Given the description of an element on the screen output the (x, y) to click on. 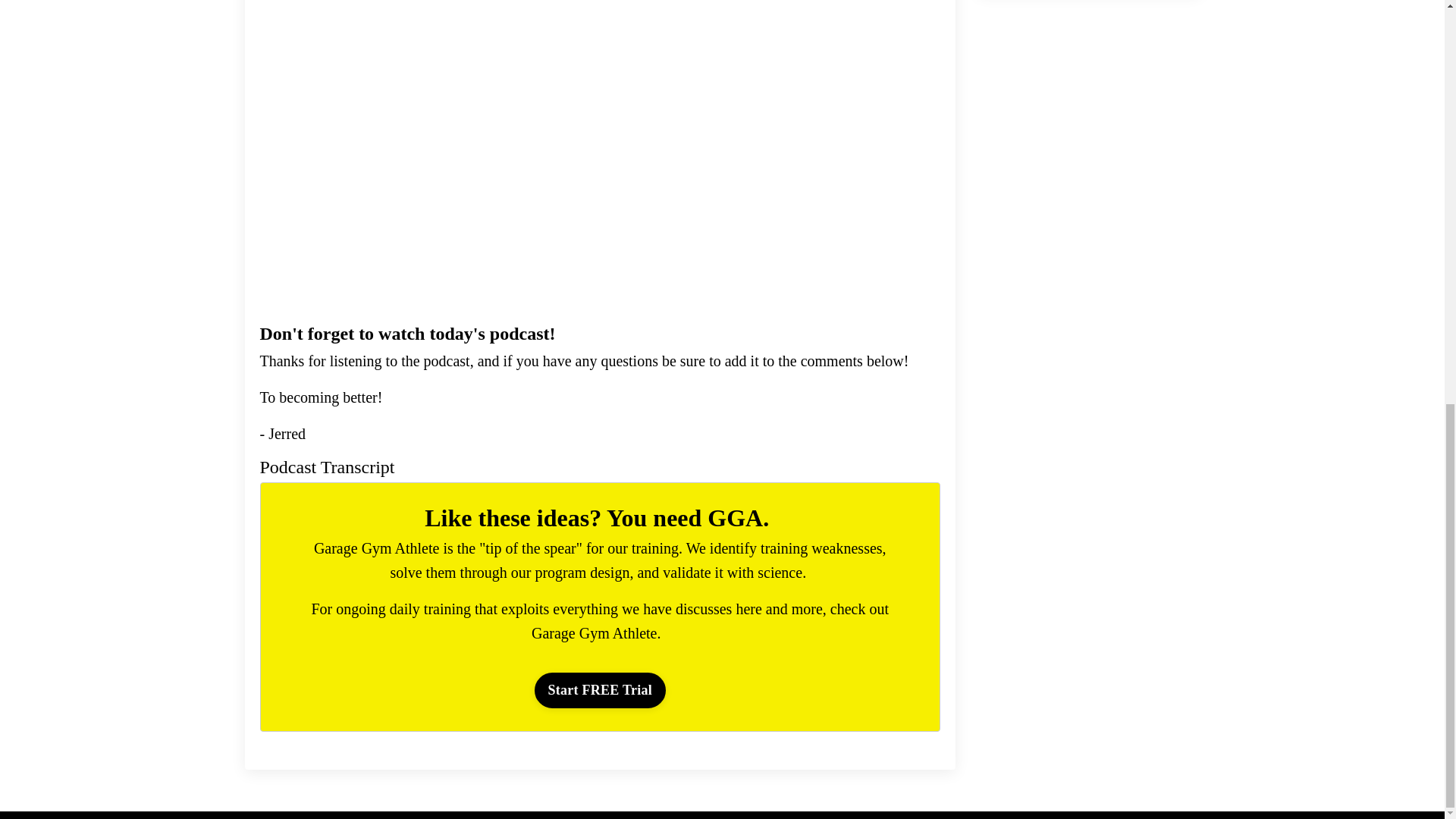
check out Garage Gym Athlete (709, 620)
Start FREE Trial (599, 690)
